Given the description of an element on the screen output the (x, y) to click on. 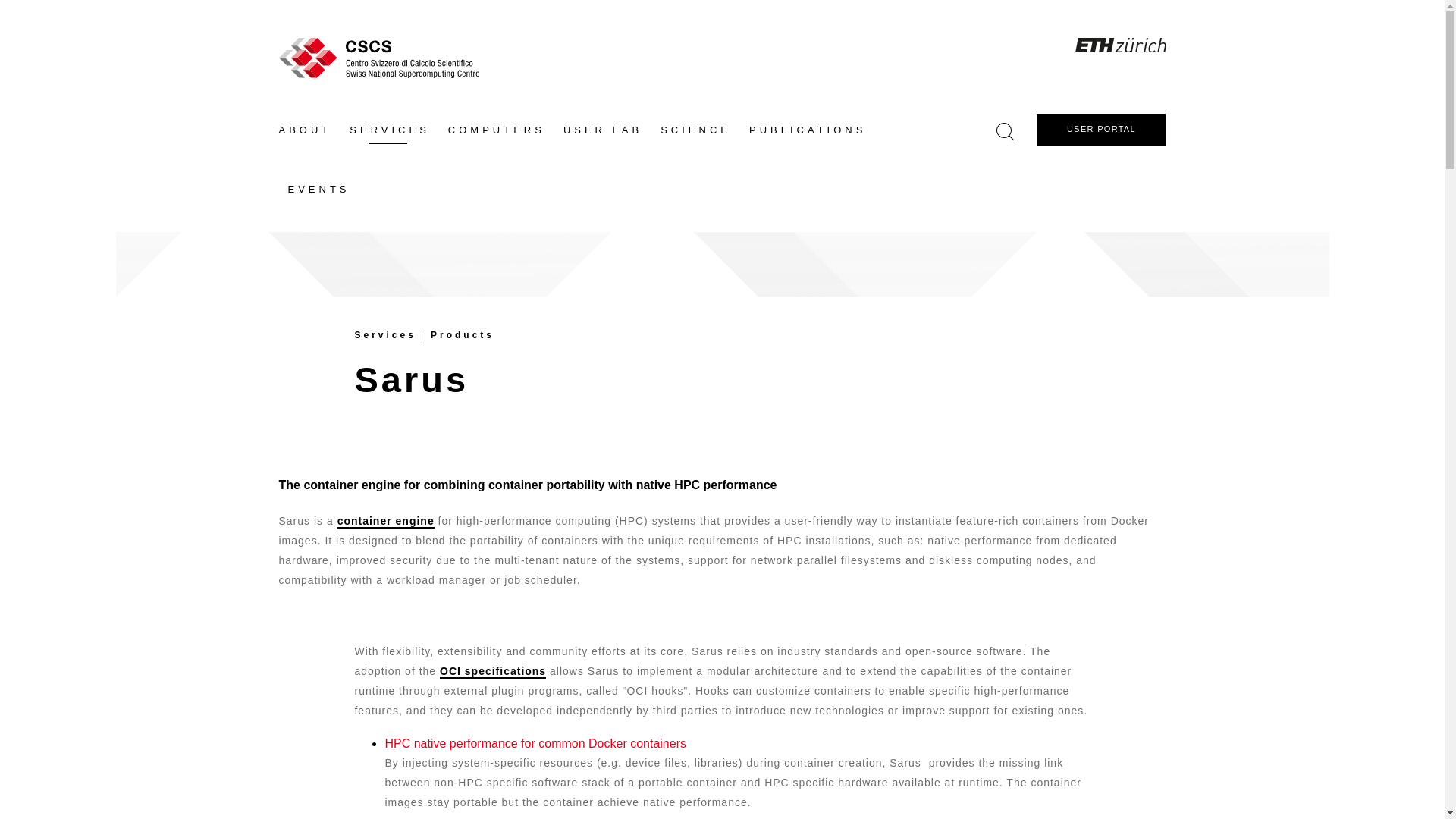
ABOUT (309, 130)
USER LAB (602, 130)
COMPUTERS (496, 130)
SCIENCE (694, 130)
SERVICES (389, 130)
